Given the description of an element on the screen output the (x, y) to click on. 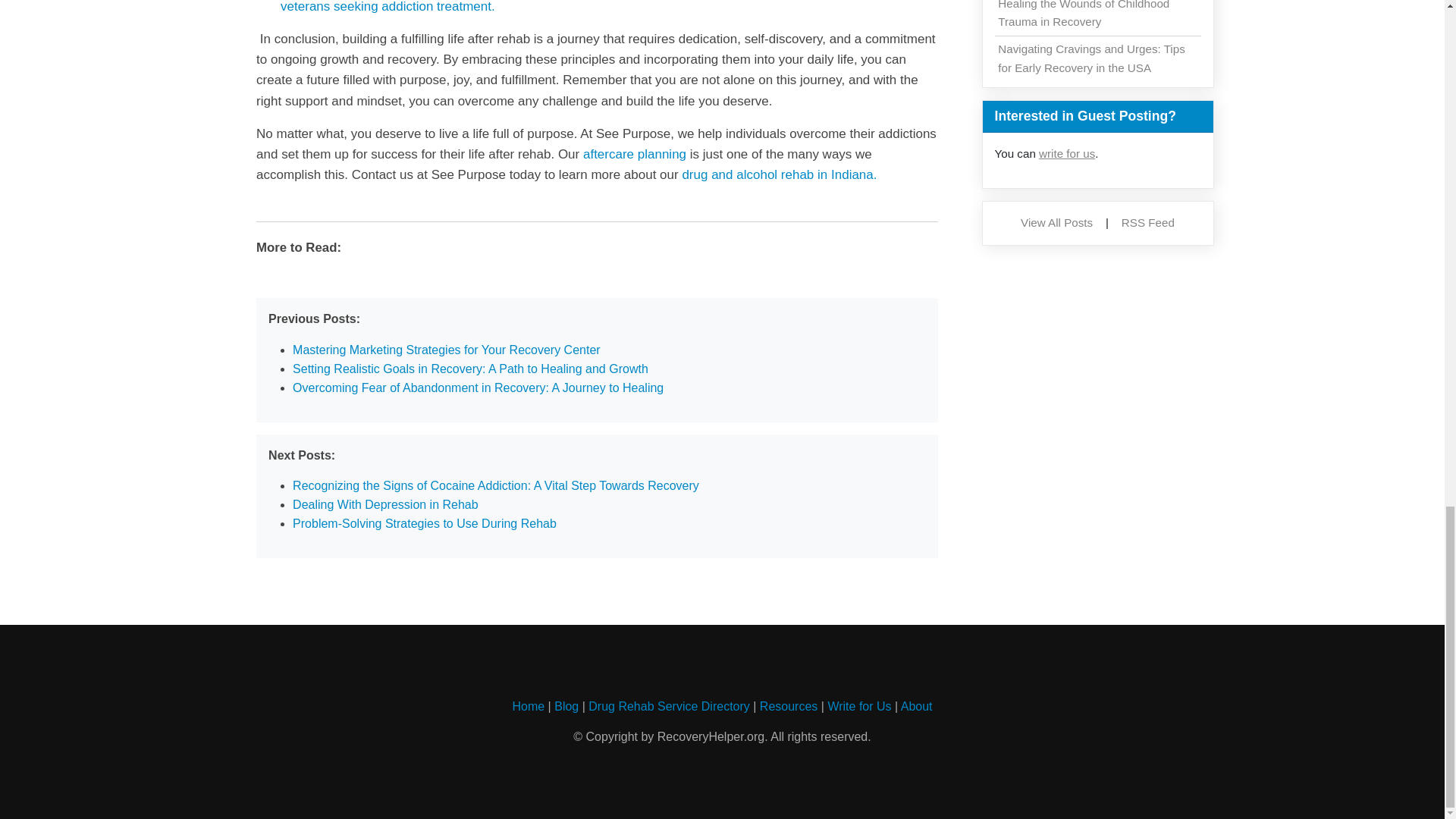
aftercare planning (634, 154)
drug and alcohol rehab in Indiana. (778, 174)
Problem-Solving Strategies to Use During Rehab (424, 522)
View All Posts (1056, 222)
Mastering Marketing Strategies for Your Recovery Center (445, 349)
veterans seeking addiction treatment. (388, 6)
Healing the Wounds of Childhood Trauma in Recovery (1083, 14)
write for us (1066, 153)
Dealing With Depression in Rehab (385, 504)
